Given the description of an element on the screen output the (x, y) to click on. 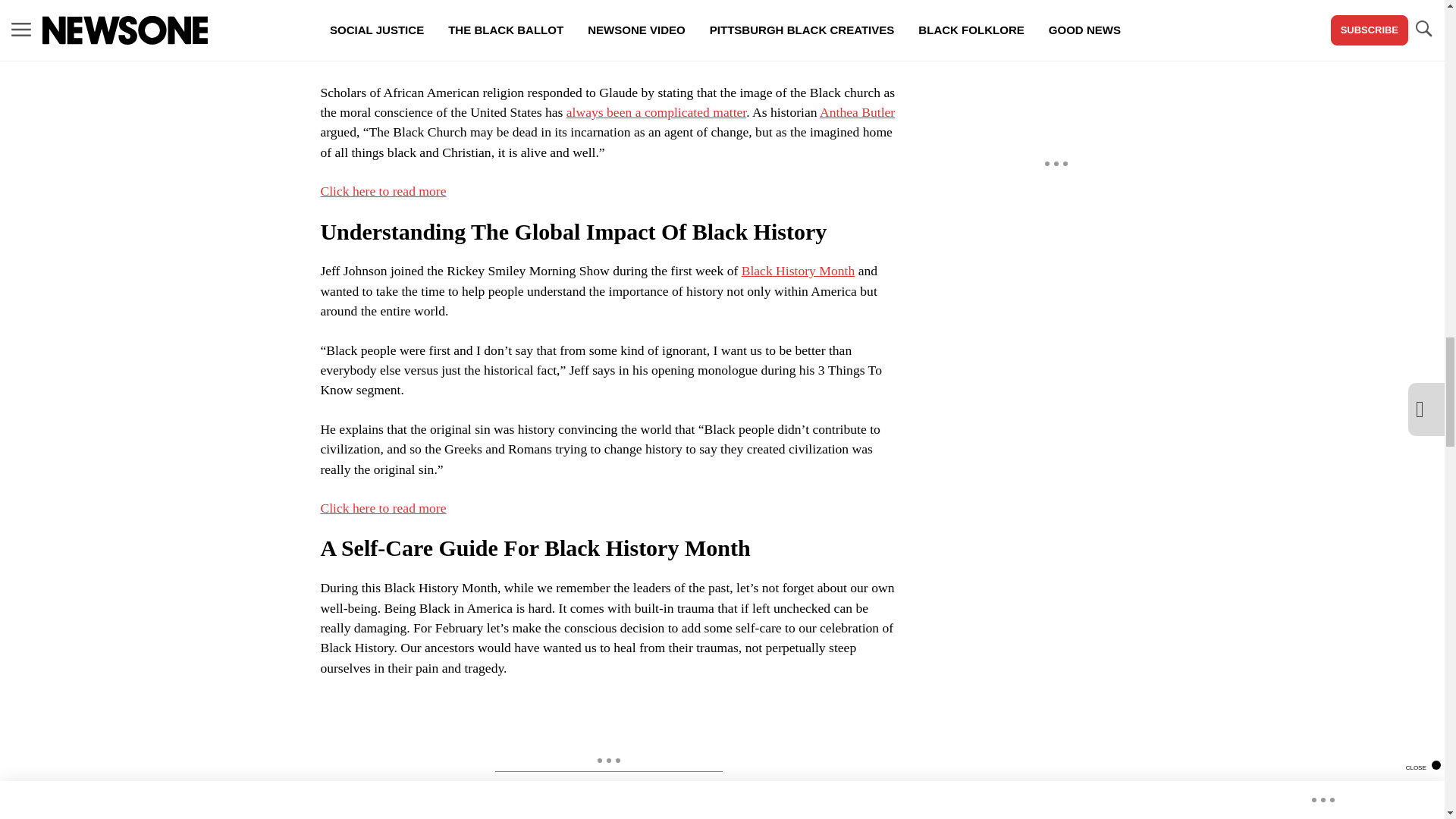
always been a complicated matter (655, 111)
Black History Month (798, 270)
Click here to read more (382, 191)
Anthea Butler (857, 111)
Click here to read more (382, 507)
